Given the description of an element on the screen output the (x, y) to click on. 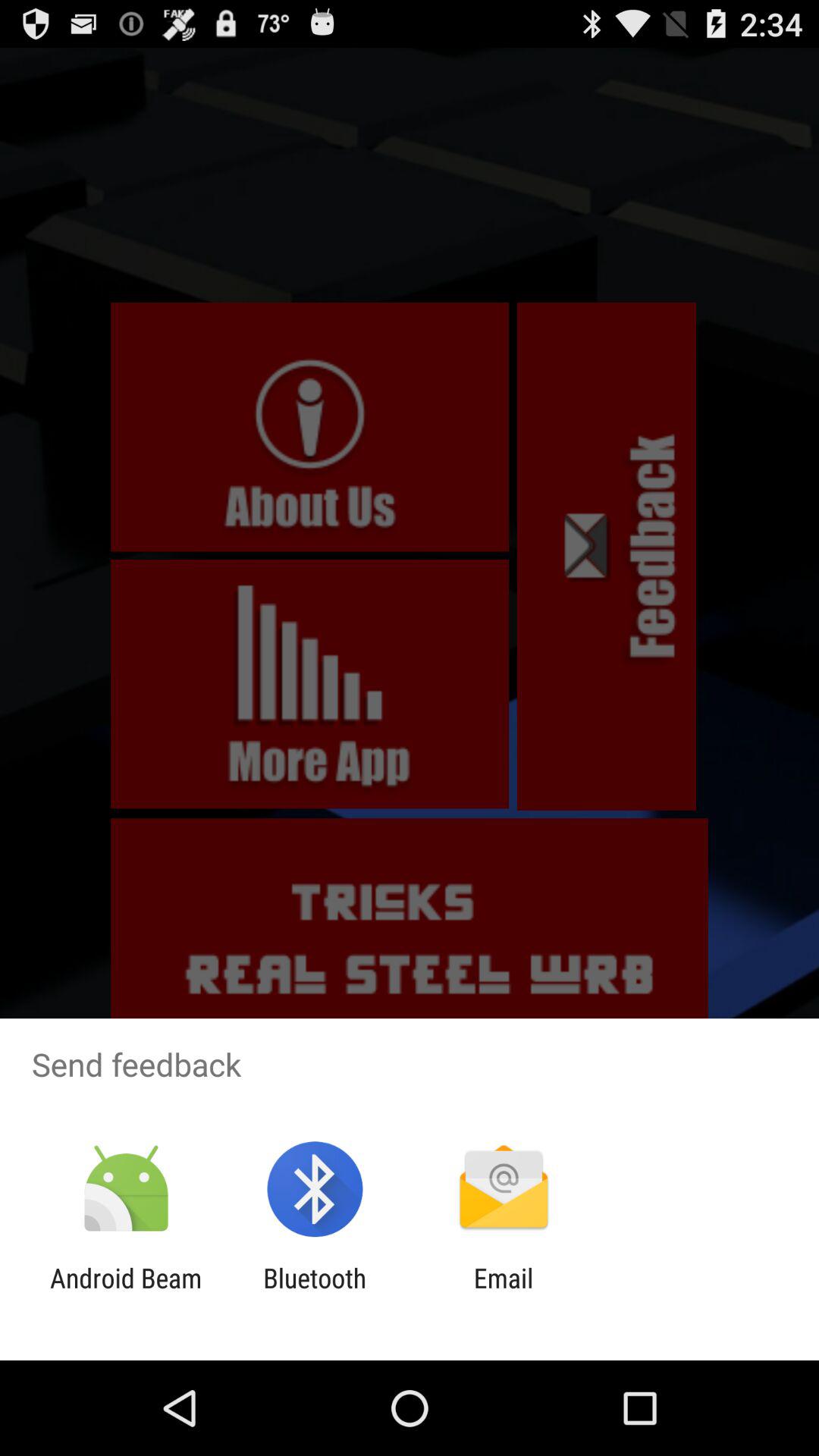
launch the email item (503, 1293)
